Given the description of an element on the screen output the (x, y) to click on. 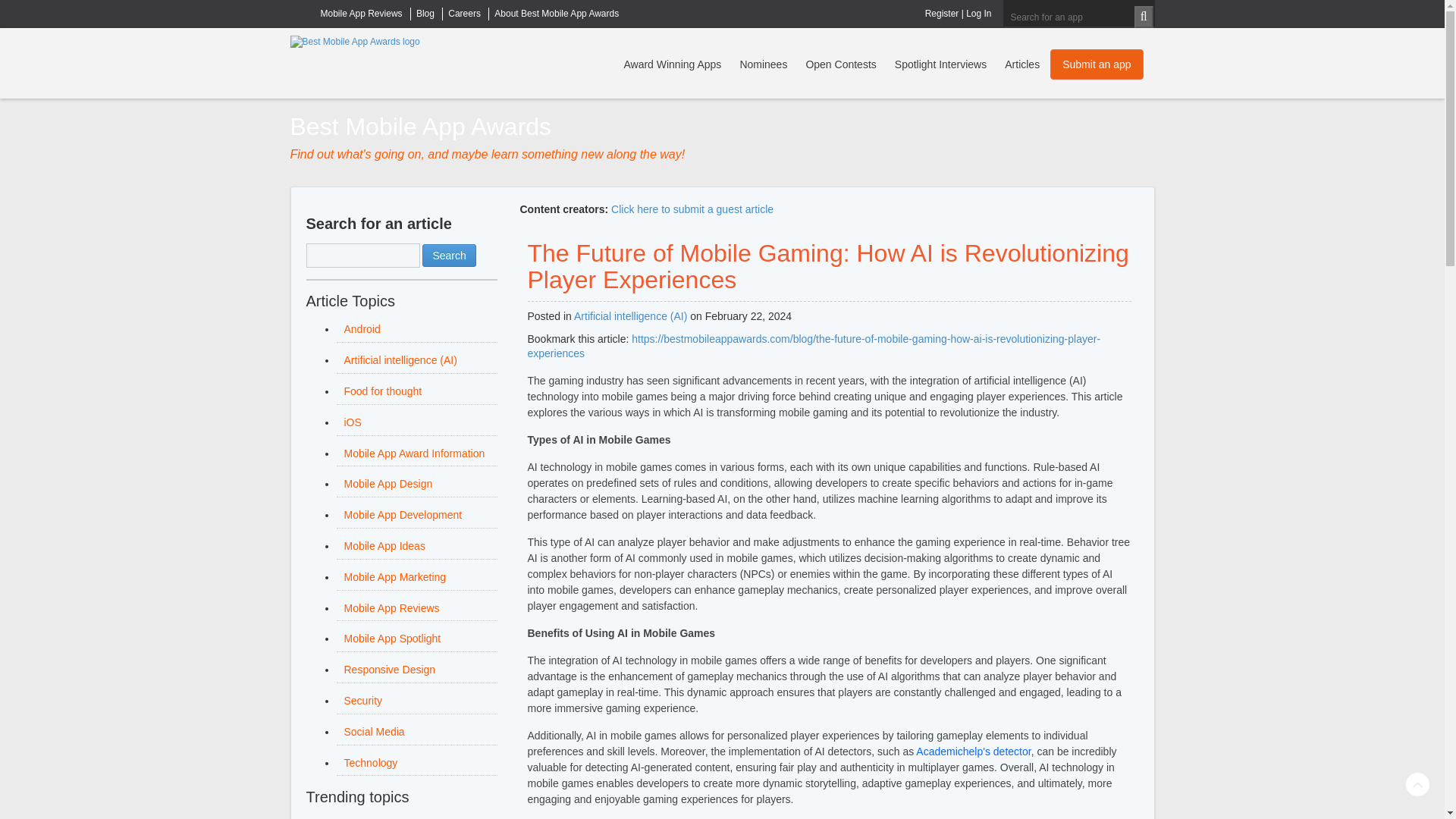
Mobile App Design (387, 483)
Android (361, 328)
Mobile App Award Information (413, 453)
Submit your mobile app to a contest (1095, 64)
Mobile App Marketing (394, 576)
Blog (424, 13)
Mobile App Spotlight (392, 638)
Academichelp's detector (972, 751)
Food for thought (382, 390)
